Given the description of an element on the screen output the (x, y) to click on. 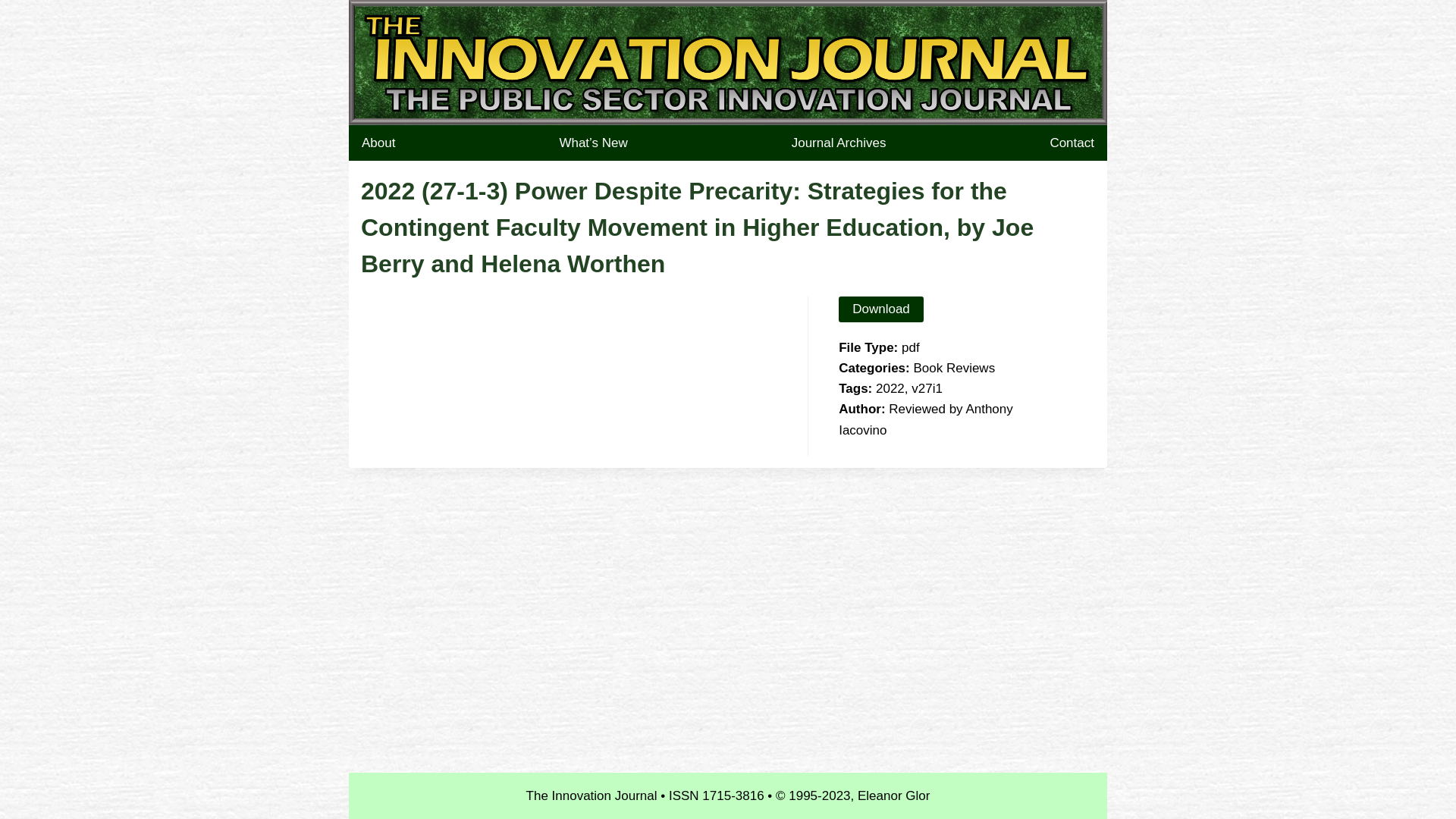
Download Element type: text (880, 309)
Journal Archives Element type: text (838, 142)
About Element type: text (377, 142)
Contact Element type: text (1071, 142)
